Given the description of an element on the screen output the (x, y) to click on. 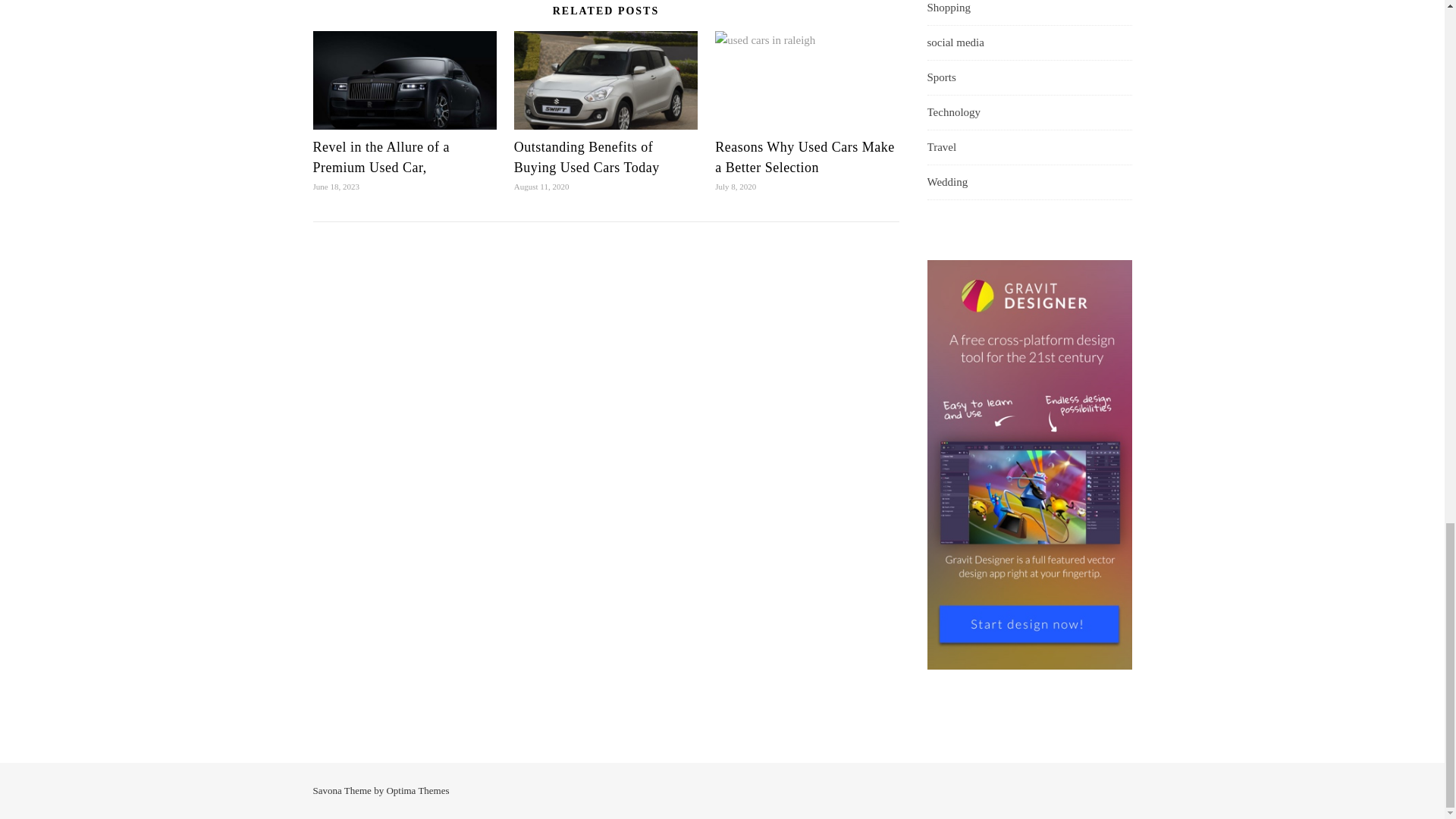
Reasons Why Used Cars Make a Better Selection (804, 157)
Outstanding Benefits of Buying Used Cars Today  (588, 157)
Revel in the Allure of a Premium Used Car, (380, 157)
